Given the description of an element on the screen output the (x, y) to click on. 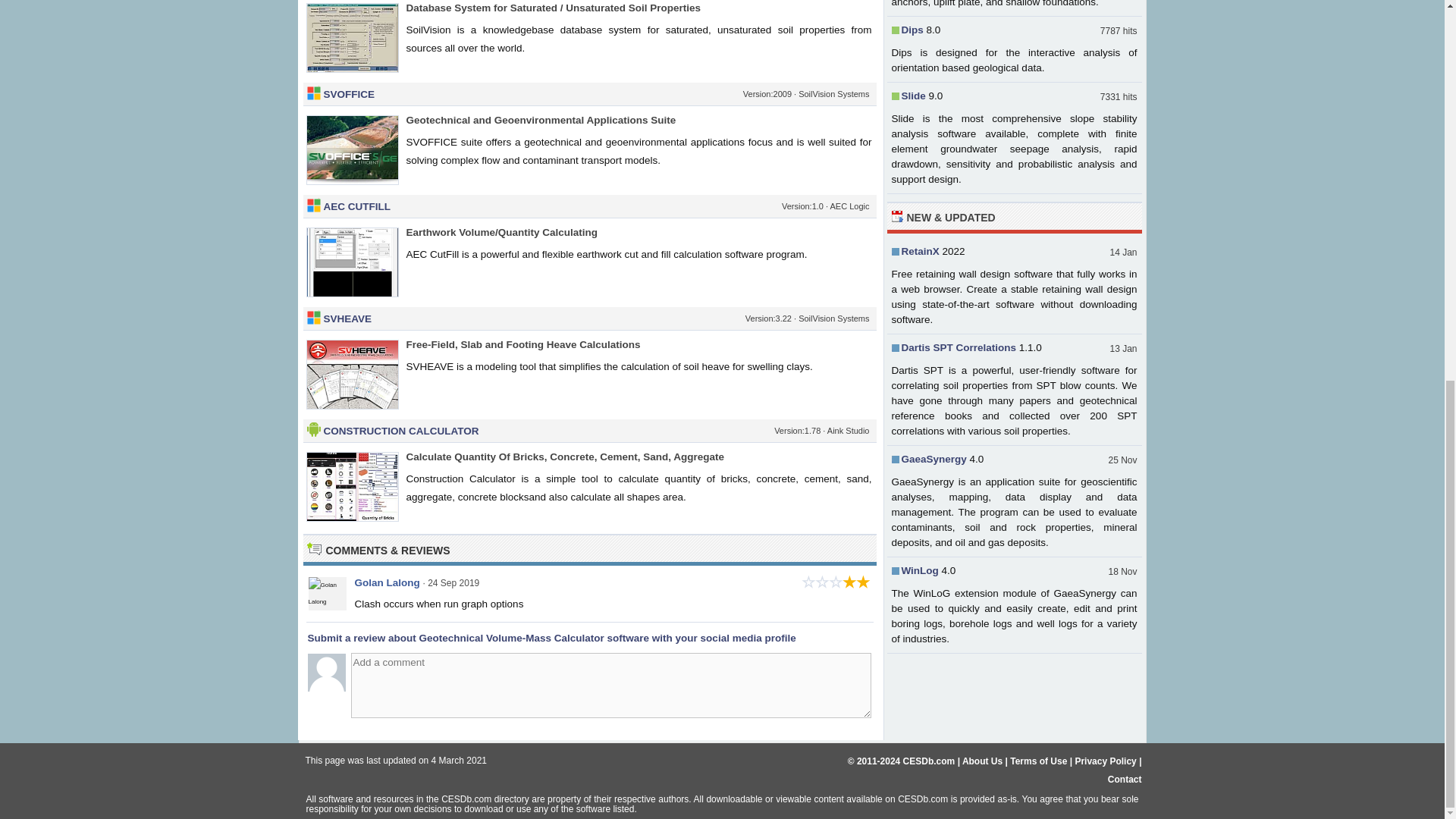
SVHEAVE (347, 318)
CONSTRUCTION CALCULATOR (401, 430)
AEC CUTFILL (356, 206)
Free-Field, Slab and Footing Heave Calculations (523, 344)
SVOFFICE (348, 93)
Geotechnical and Geoenvironmental Applications Suite (541, 120)
